Given the description of an element on the screen output the (x, y) to click on. 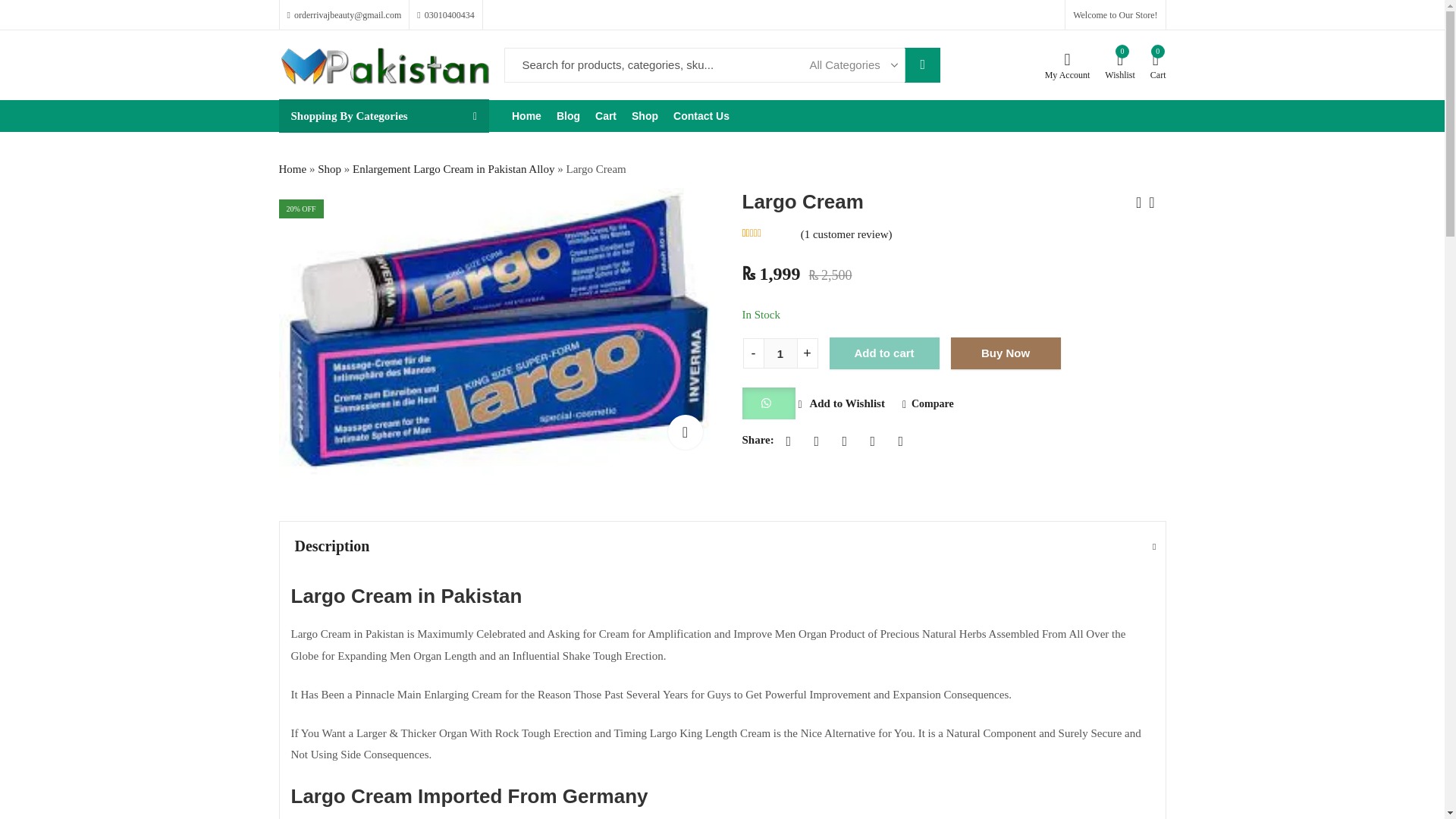
Shop (644, 115)
Largo Cream (1120, 65)
Home (496, 331)
1 (293, 168)
Shop (779, 353)
Buy Now (328, 168)
Home (1005, 353)
Add to cart (525, 115)
Contact Us (884, 353)
Lightbox (700, 115)
Search (683, 431)
Blog (922, 64)
Enlargement Largo Cream in Pakistan Alloy (568, 115)
My Account (453, 168)
